Given the description of an element on the screen output the (x, y) to click on. 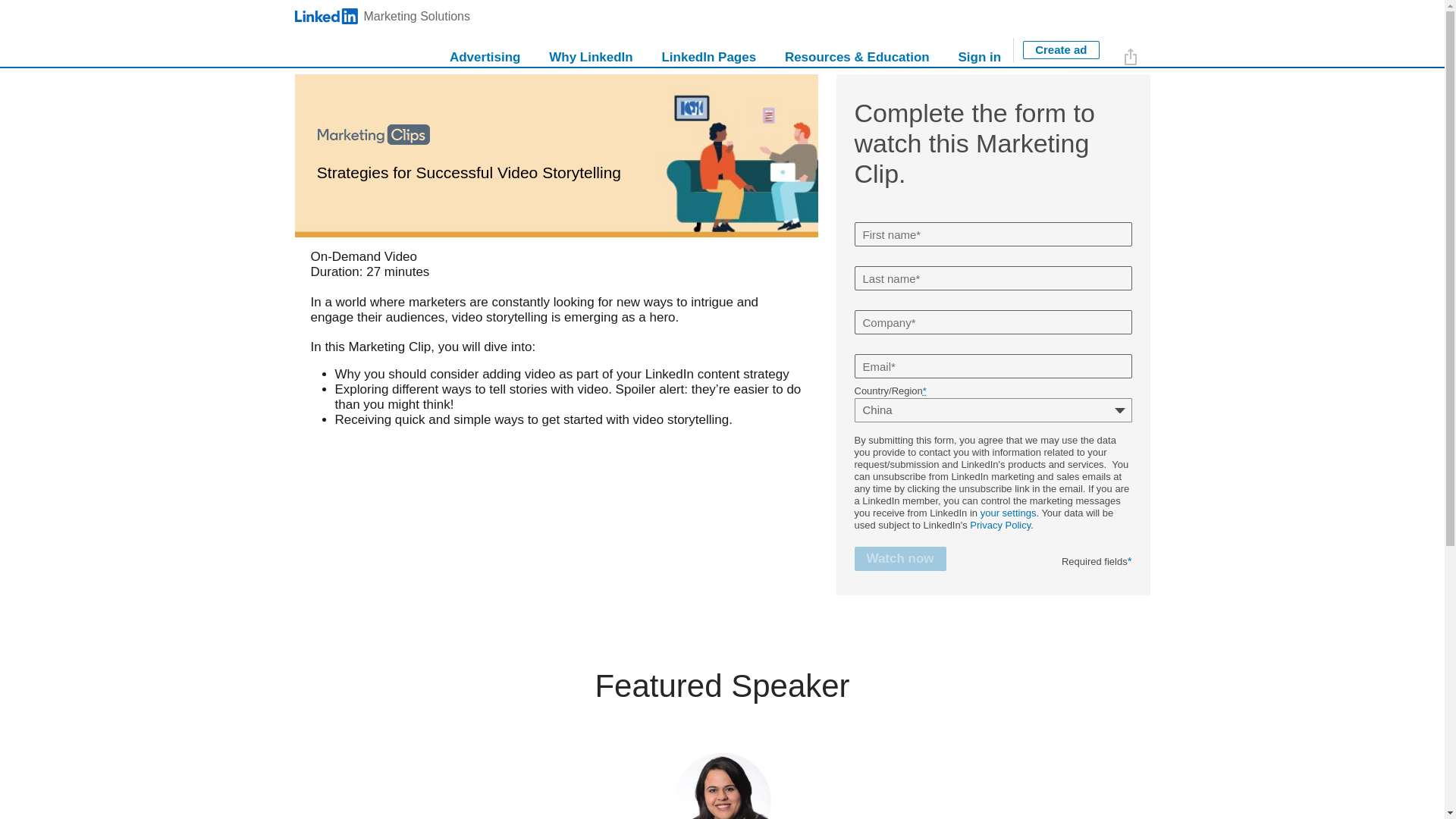
Advertising (485, 49)
LinkedIn Pages (708, 49)
See all Ad formats (657, 33)
Sign in to Campaign Manager (420, 33)
Sign in options (978, 49)
Why LinkedIn (591, 49)
Why LinkedIn (381, 16)
Create ad (591, 49)
Advertising (1061, 49)
